Given the description of an element on the screen output the (x, y) to click on. 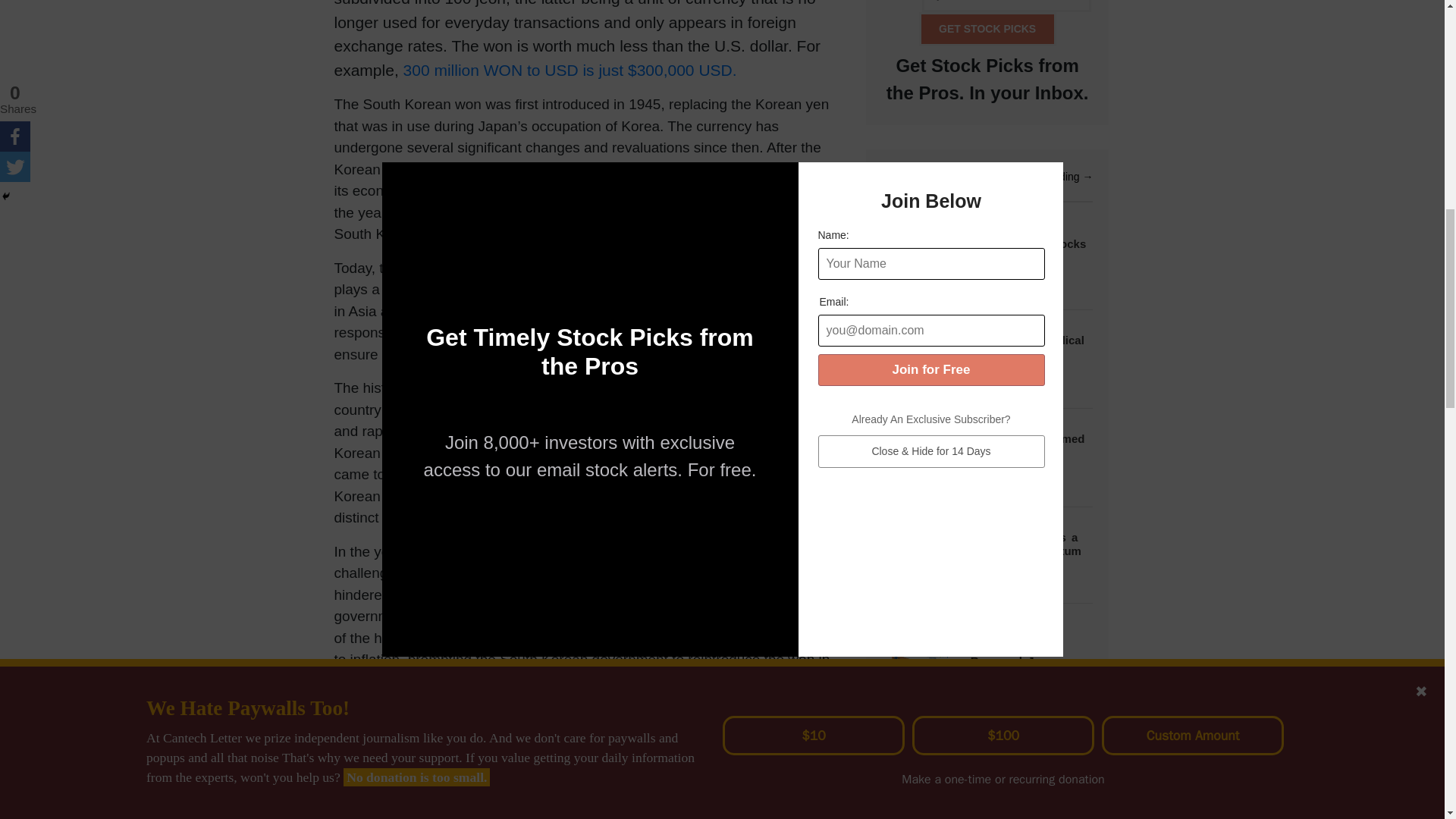
GET STOCK PICKS (987, 28)
